Given the description of an element on the screen output the (x, y) to click on. 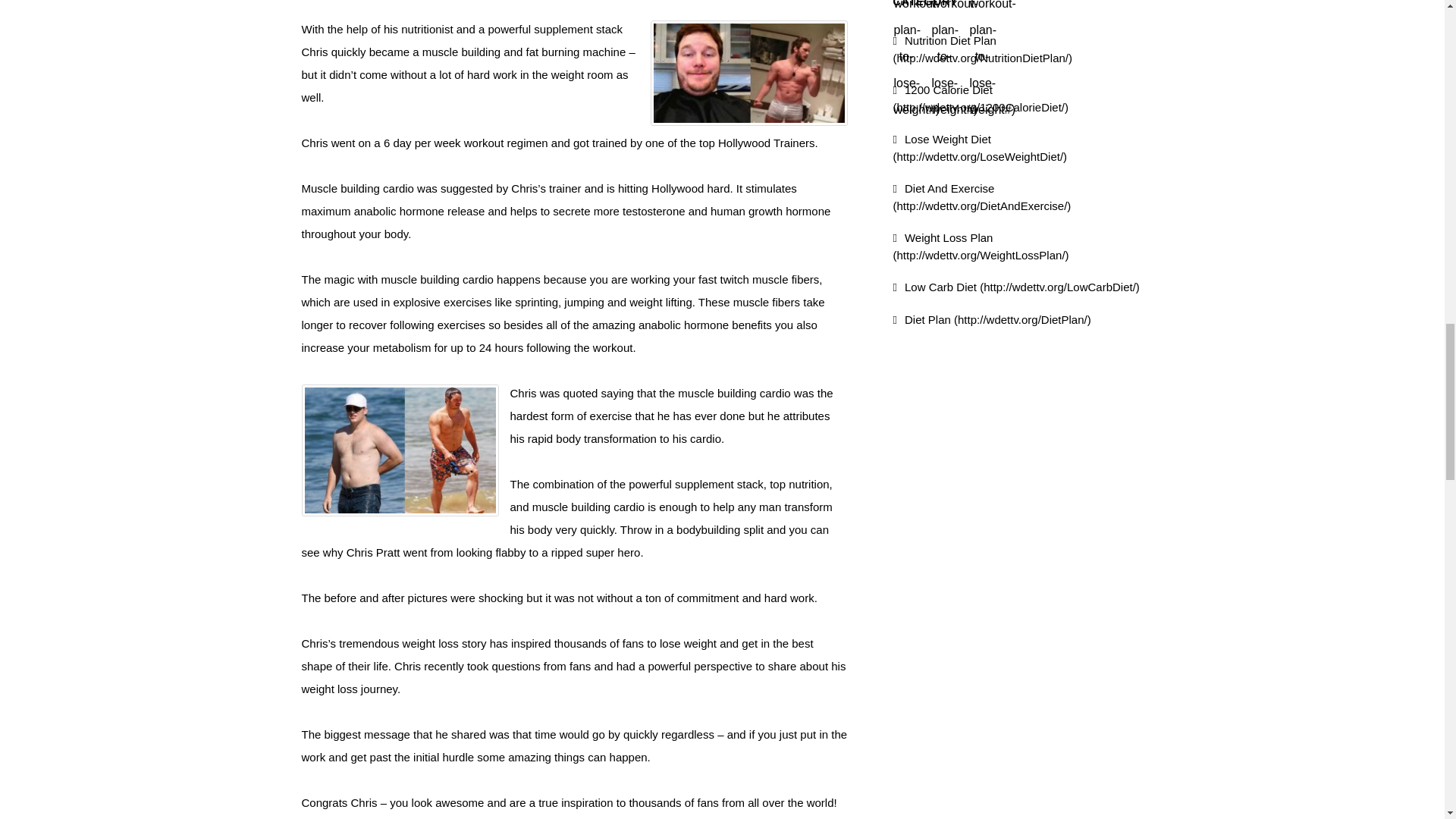
View all posts filed under Lose Weight Diet (980, 147)
View all posts filed under Diet And Exercise (982, 196)
View all posts filed under Nutrition Diet Plan (982, 49)
View all posts filed under Weight Loss Plan (980, 245)
View all posts filed under Diet Plan (991, 318)
View all posts filed under 1200 Calorie Diet (980, 98)
View all posts filed under Low Carb Diet (1016, 286)
